Given the description of an element on the screen output the (x, y) to click on. 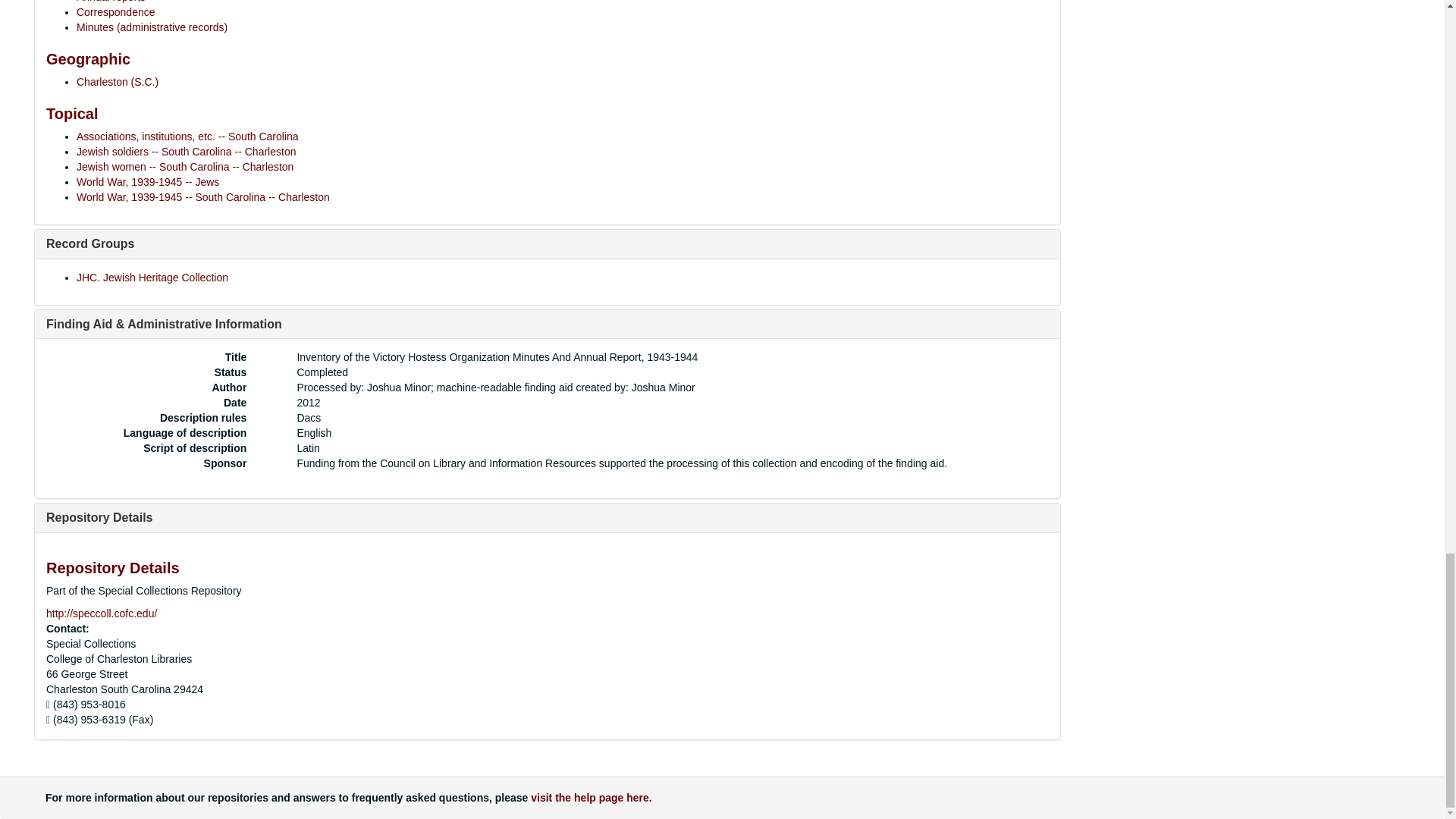
Associations, institutions, etc. -- South Carolina (187, 136)
Jewish soldiers -- South Carolina -- Charleston (186, 151)
Annual reports (111, 1)
Correspondence (116, 11)
